Given the description of an element on the screen output the (x, y) to click on. 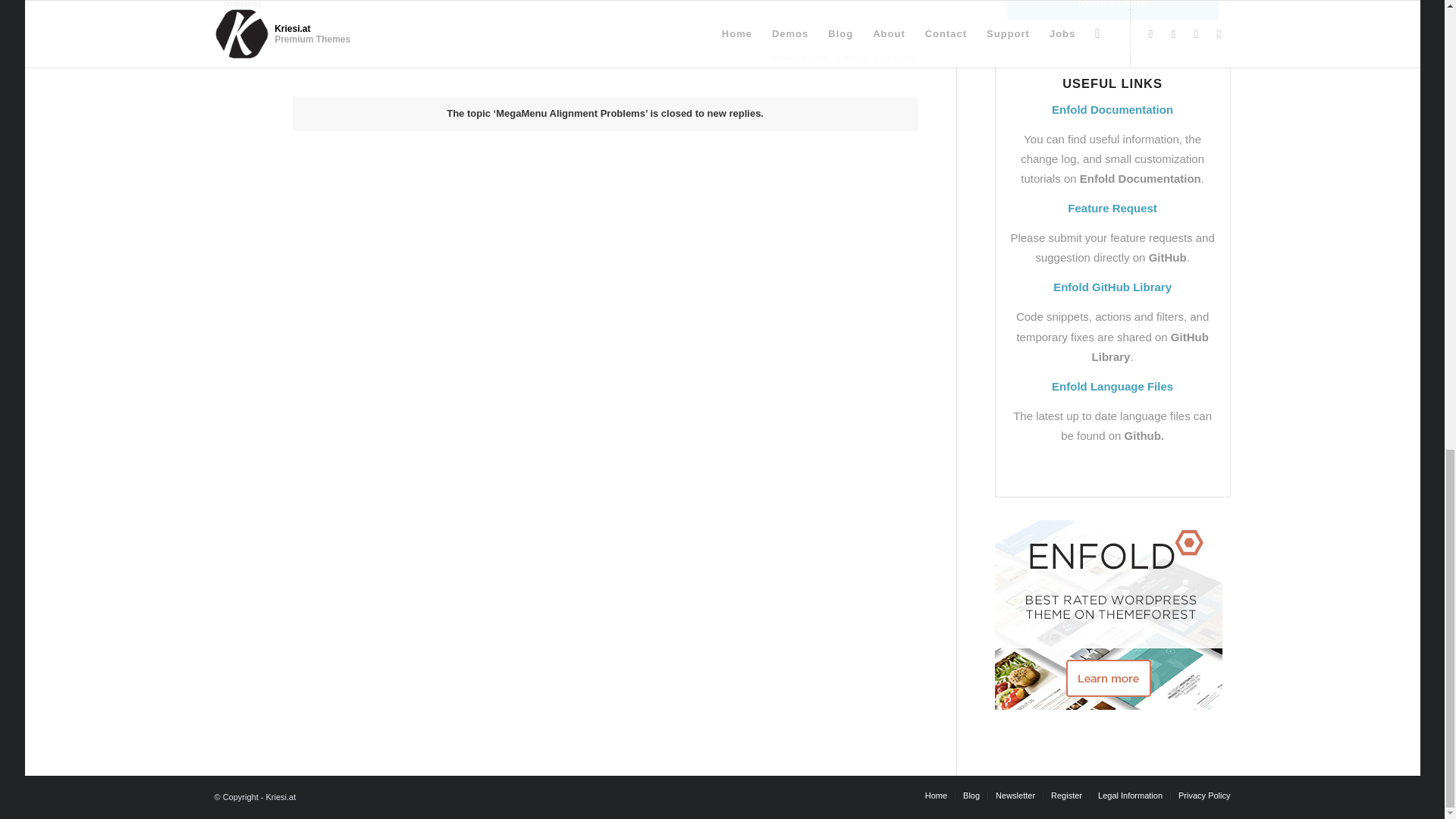
Check the changelog of previous releases here (1112, 9)
View indigokj's profile (241, 4)
indigokj (241, 4)
Participant (242, 18)
